Given the description of an element on the screen output the (x, y) to click on. 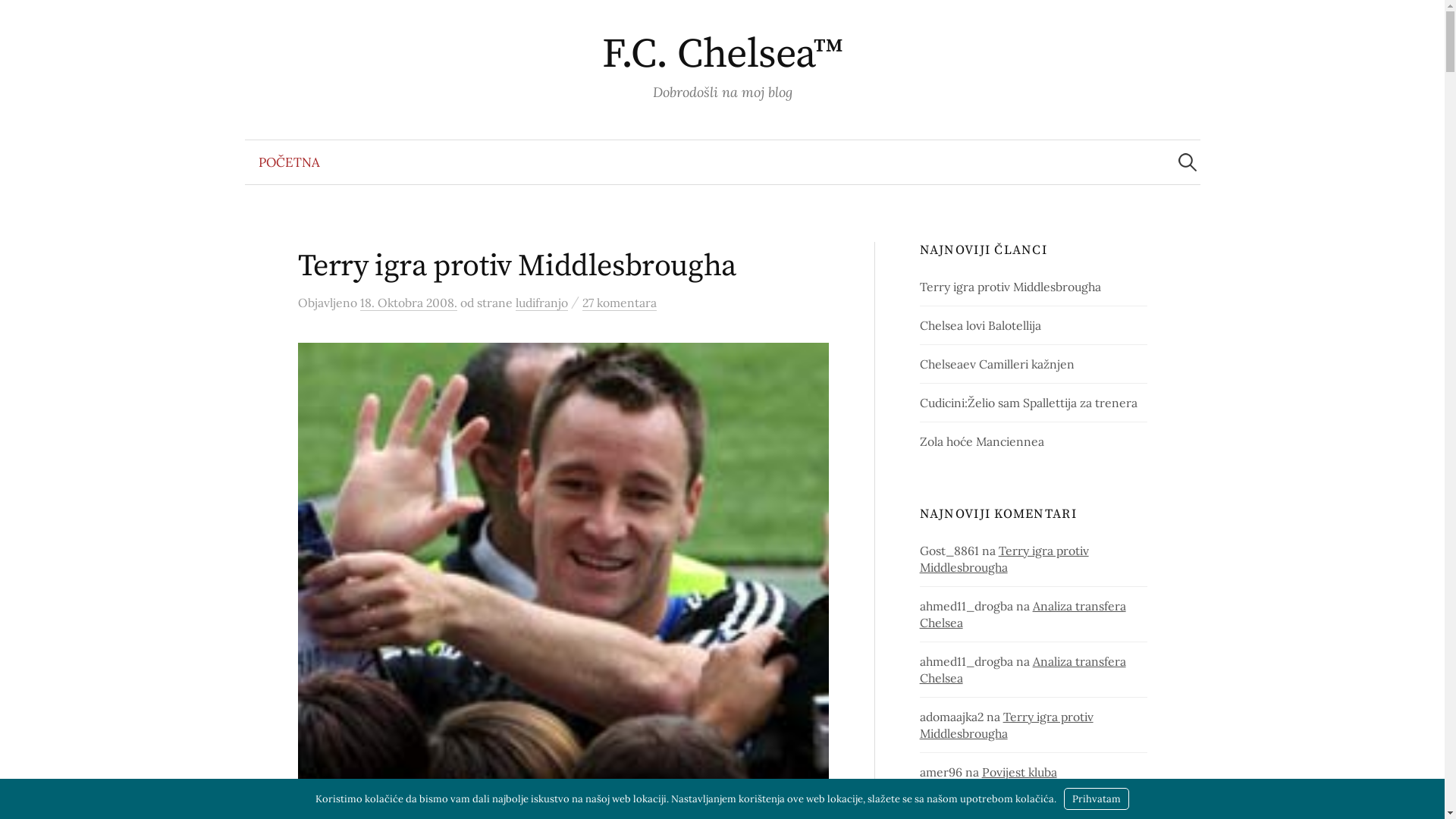
Terry igra protiv Middlesbrougha Element type: text (1010, 286)
Terry igra protiv Middlesbrougha Element type: text (516, 266)
27 komentara
za Terry igra protiv Middlesbrougha Element type: text (619, 302)
Terry igra protiv Middlesbrougha Element type: text (1006, 724)
Analiza transfera Chelsea Element type: text (1022, 614)
ludifranjo Element type: text (541, 302)
Terry igra protiv Middlesbrougha Element type: text (1003, 558)
18. Oktobra 2008. Element type: text (407, 302)
Povijest kluba Element type: text (1019, 771)
Analiza transfera Chelsea Element type: text (1022, 669)
Prihvatam Element type: text (1096, 798)
Chelsea lovi Balotellija Element type: text (980, 324)
Pretraga Element type: text (18, 18)
